Given the description of an element on the screen output the (x, y) to click on. 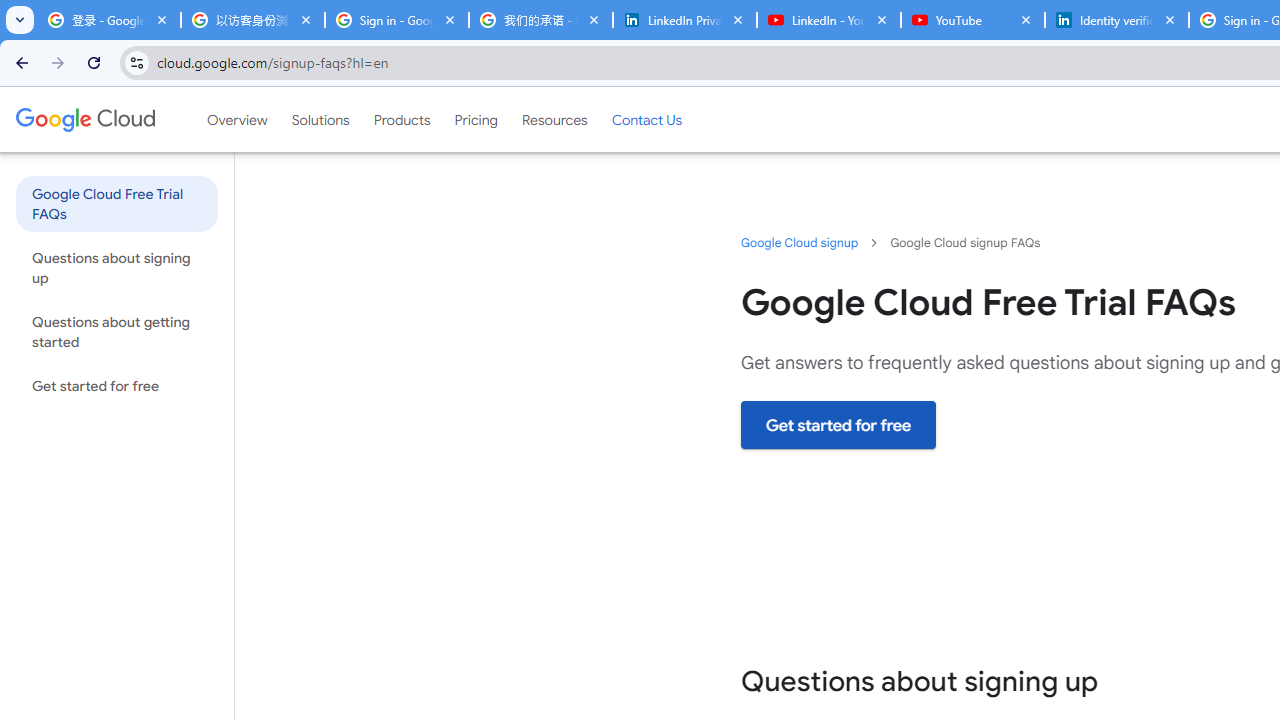
Get started for free (838, 425)
Products (401, 119)
LinkedIn Privacy Policy (684, 20)
Google Cloud Free Trial FAQs (116, 203)
Sign in - Google Accounts (396, 20)
Solutions (320, 119)
Questions about signing up (116, 267)
Resources (553, 119)
Pricing (476, 119)
